Given the description of an element on the screen output the (x, y) to click on. 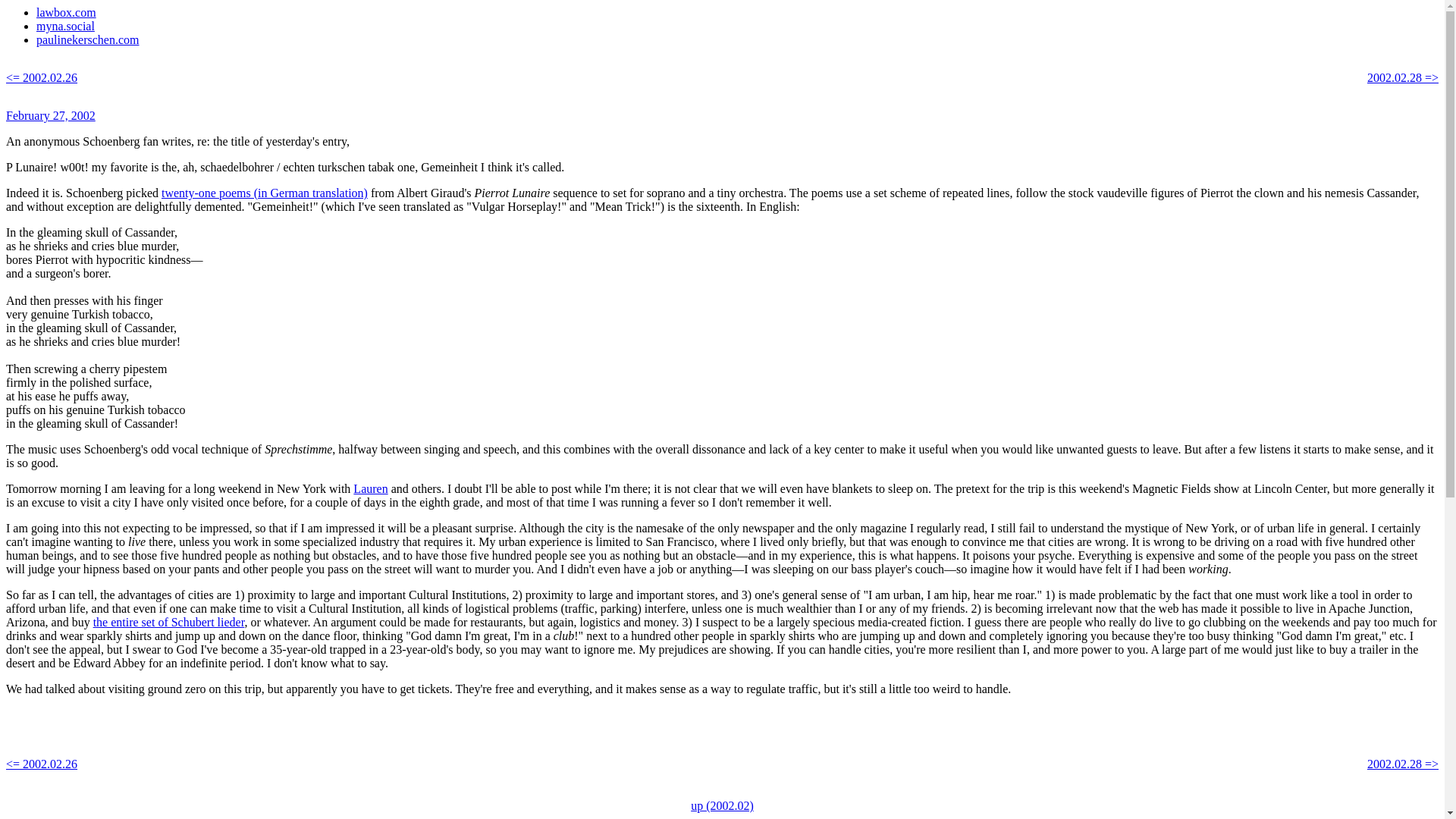
February 27, 2002 (50, 115)
myna.social (65, 25)
paulinekerschen.com (87, 39)
lawbox.com (66, 11)
Lauren (370, 488)
the entire set of Schubert lieder (168, 621)
